Given the description of an element on the screen output the (x, y) to click on. 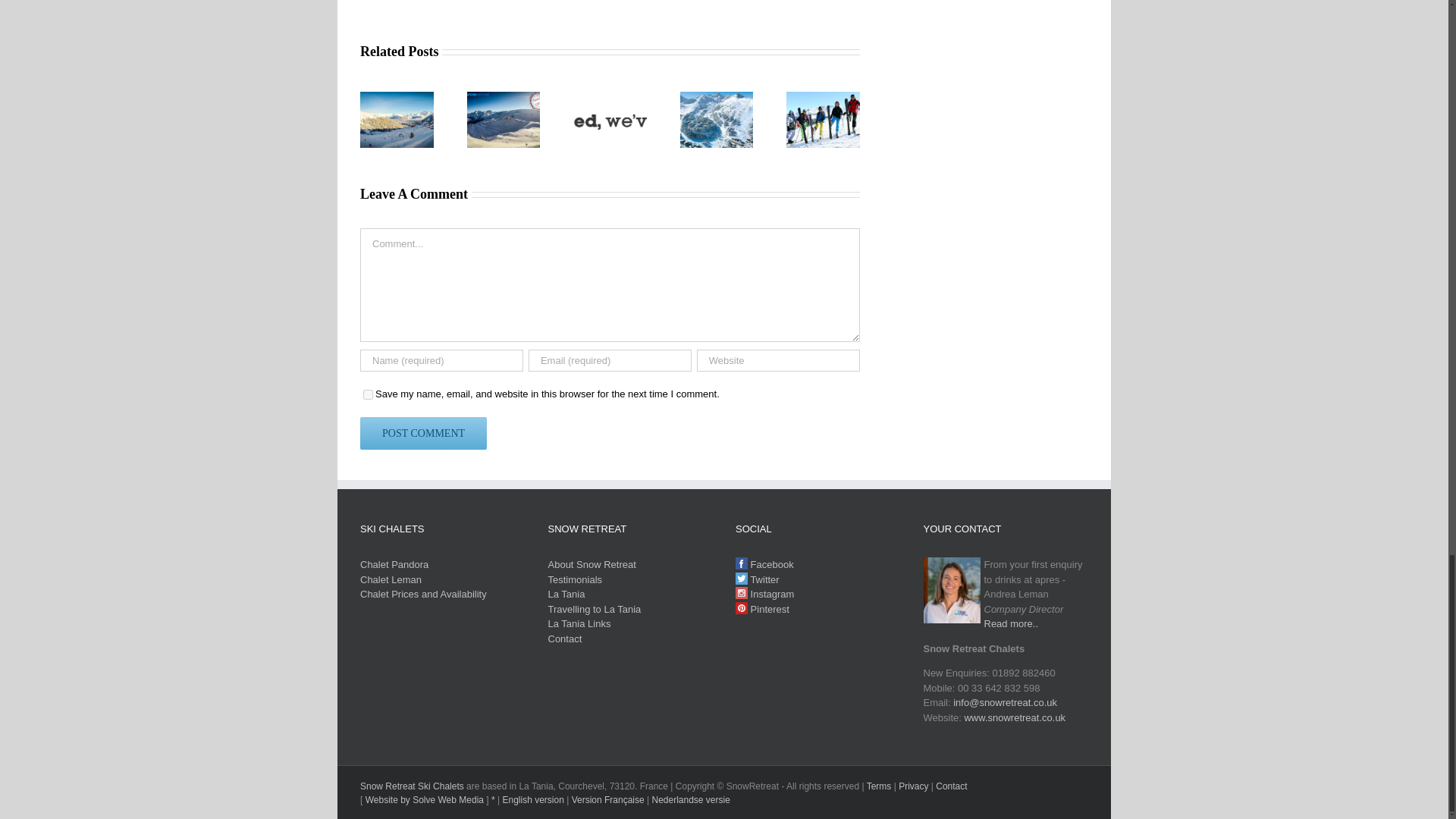
Web Design (424, 799)
yes (367, 394)
Post Comment (422, 432)
